Given the description of an element on the screen output the (x, y) to click on. 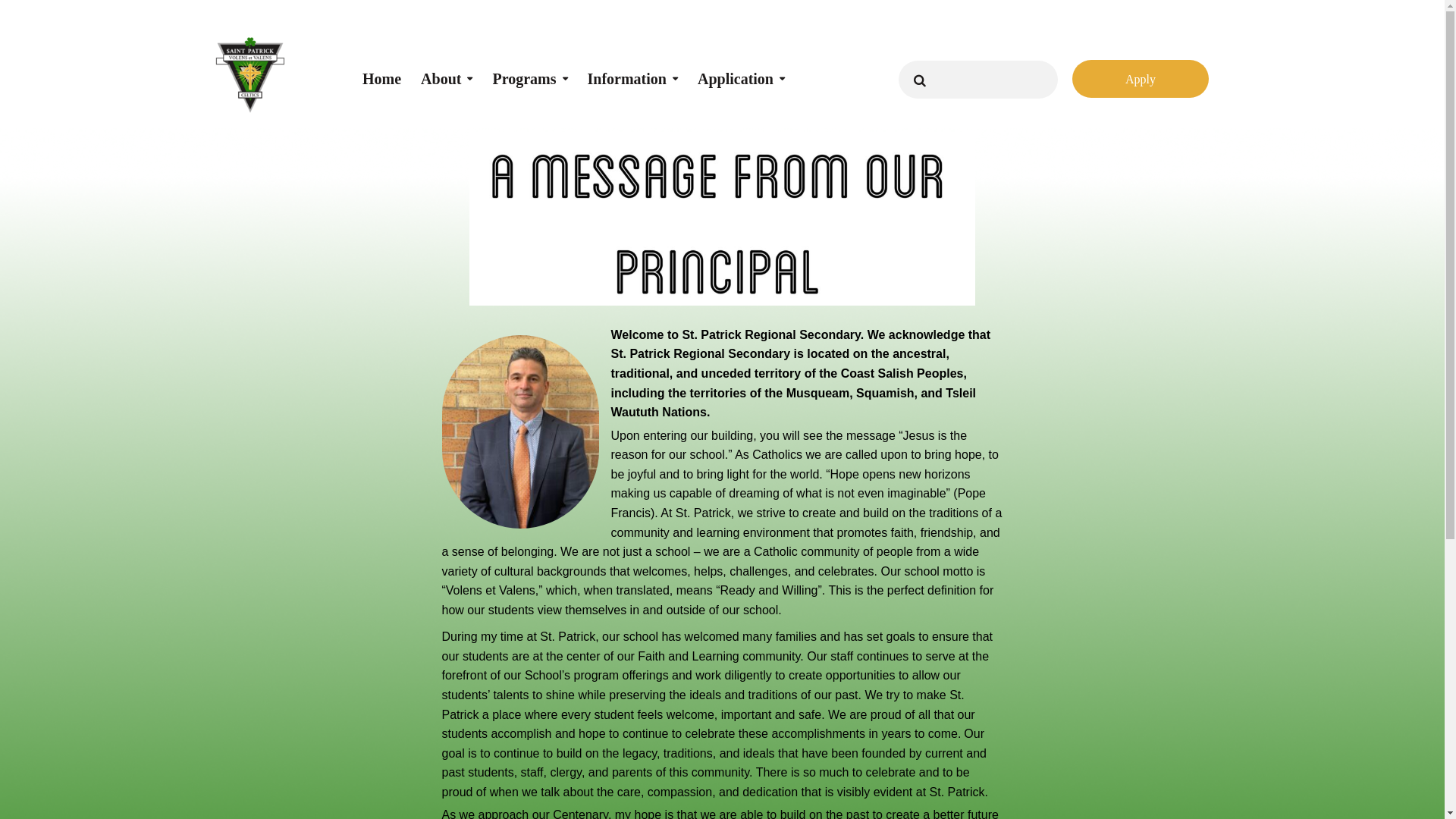
Programs Element type: text (529, 68)
Home Element type: text (381, 68)
Apply Element type: text (1140, 78)
About Element type: text (446, 68)
Application Element type: text (740, 68)
Information Element type: text (632, 68)
Primary Logo Element type: hover (250, 74)
